Given the description of an element on the screen output the (x, y) to click on. 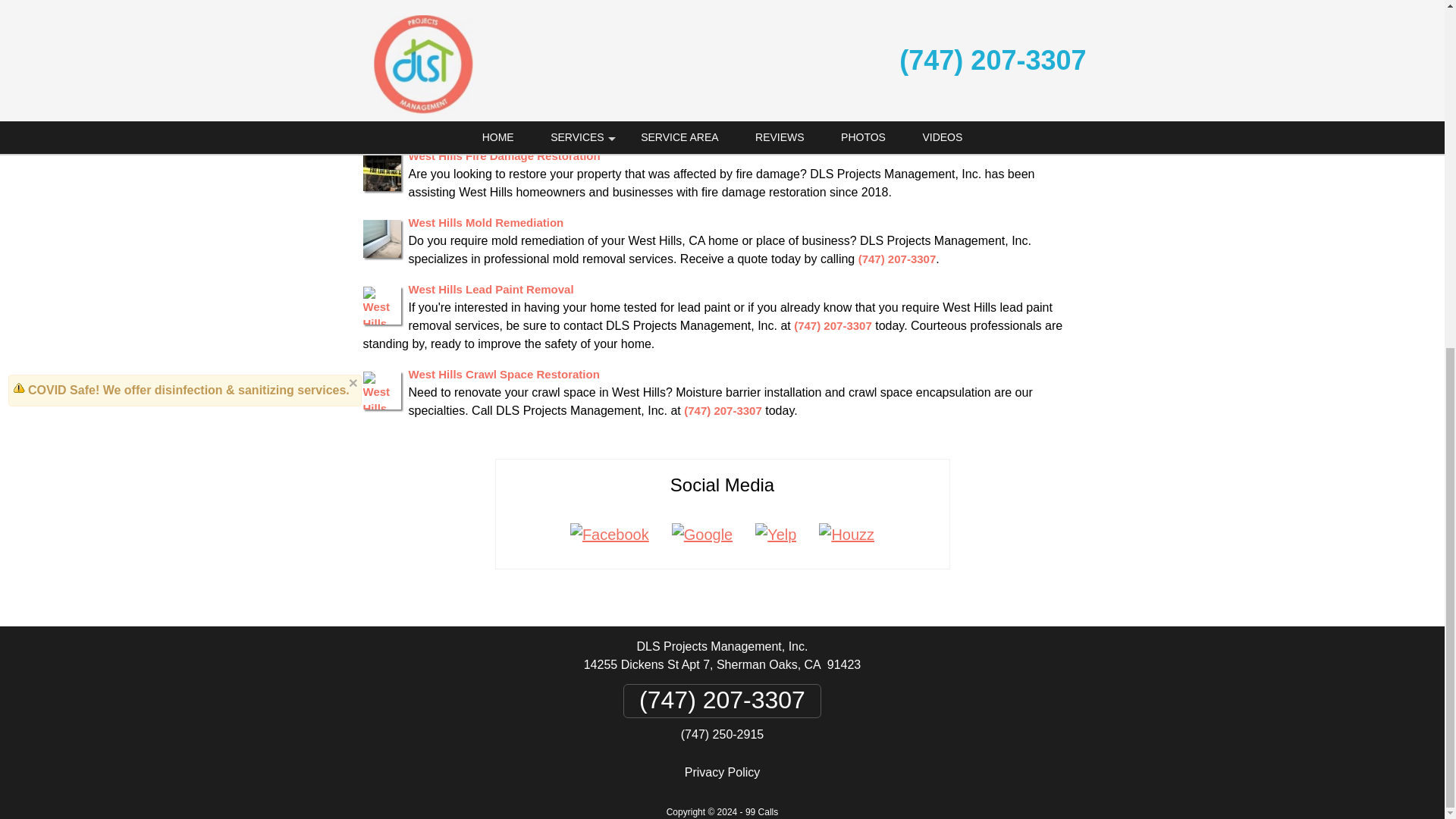
Yelp (776, 534)
Houzz (846, 534)
West Hills Crawl Space Restoration (502, 373)
Google (702, 534)
West Hills Fire Damage Restoration (503, 155)
Facebook (610, 534)
West Hills Lead Paint Removal (490, 288)
West Hills Mold Remediation (485, 222)
West Hills Dry Out Services (481, 88)
West Hills Sewage Cleanup (481, 21)
